Given the description of an element on the screen output the (x, y) to click on. 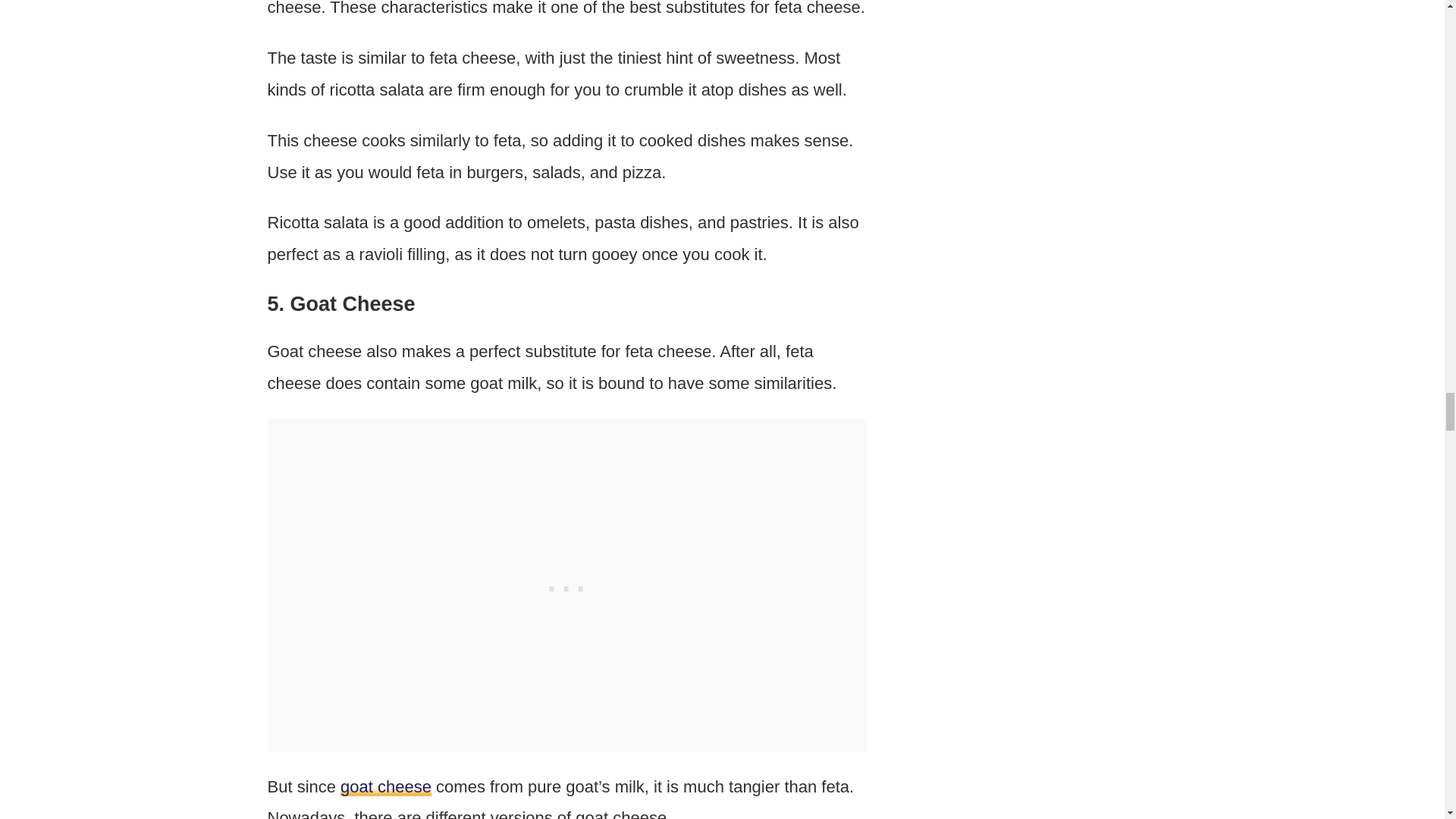
goat cheese (385, 786)
